Given the description of an element on the screen output the (x, y) to click on. 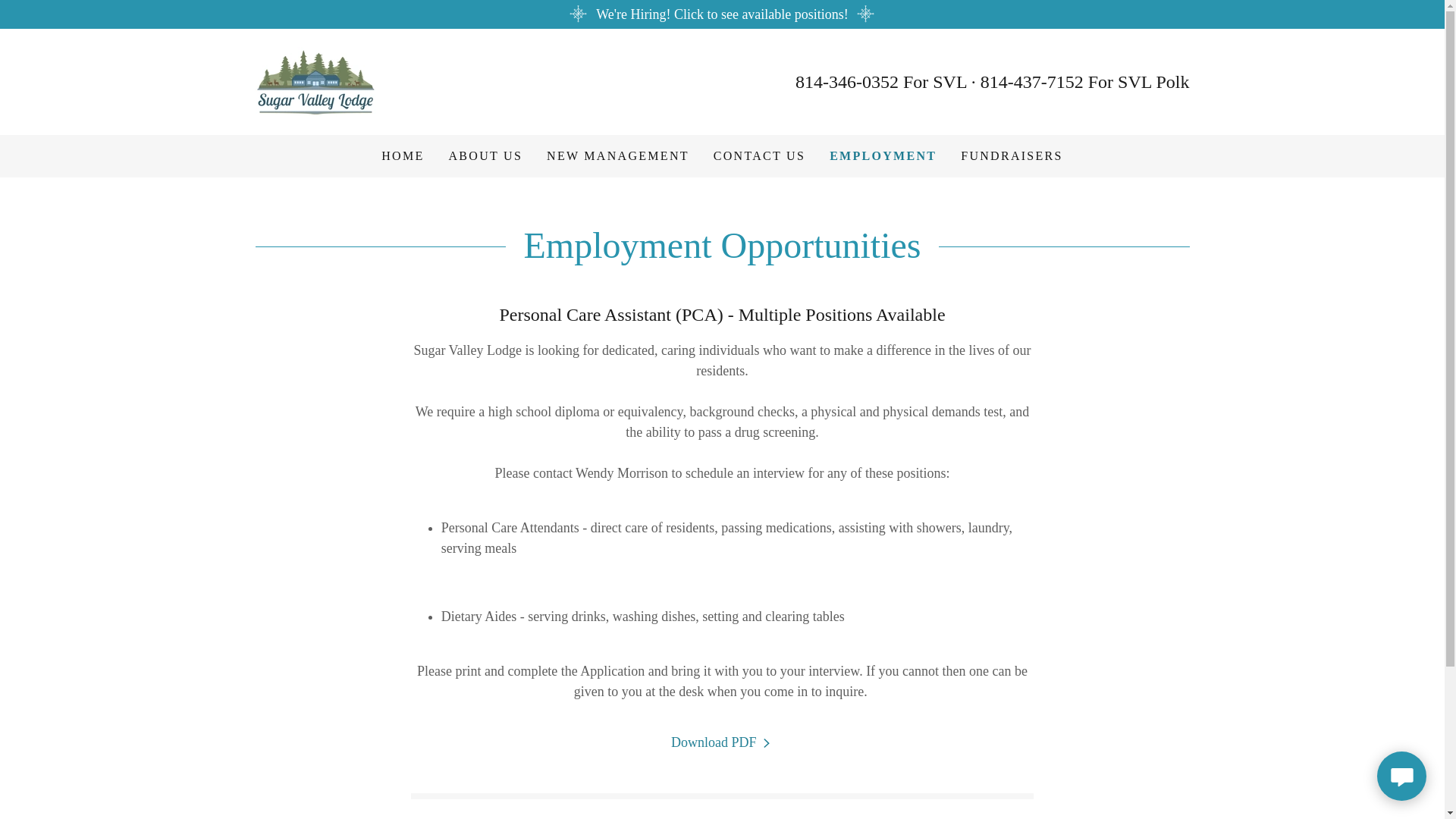
814-346-0352 (846, 81)
CONTACT US (759, 155)
HOME (402, 155)
EMPLOYMENT (882, 156)
Sugar Valley Lodge, Inc. (314, 79)
NEW MANAGEMENT (617, 155)
ABOUT US (485, 155)
Download PDF (722, 742)
FUNDRAISERS (1011, 155)
814-437-7152 (1031, 81)
